Given the description of an element on the screen output the (x, y) to click on. 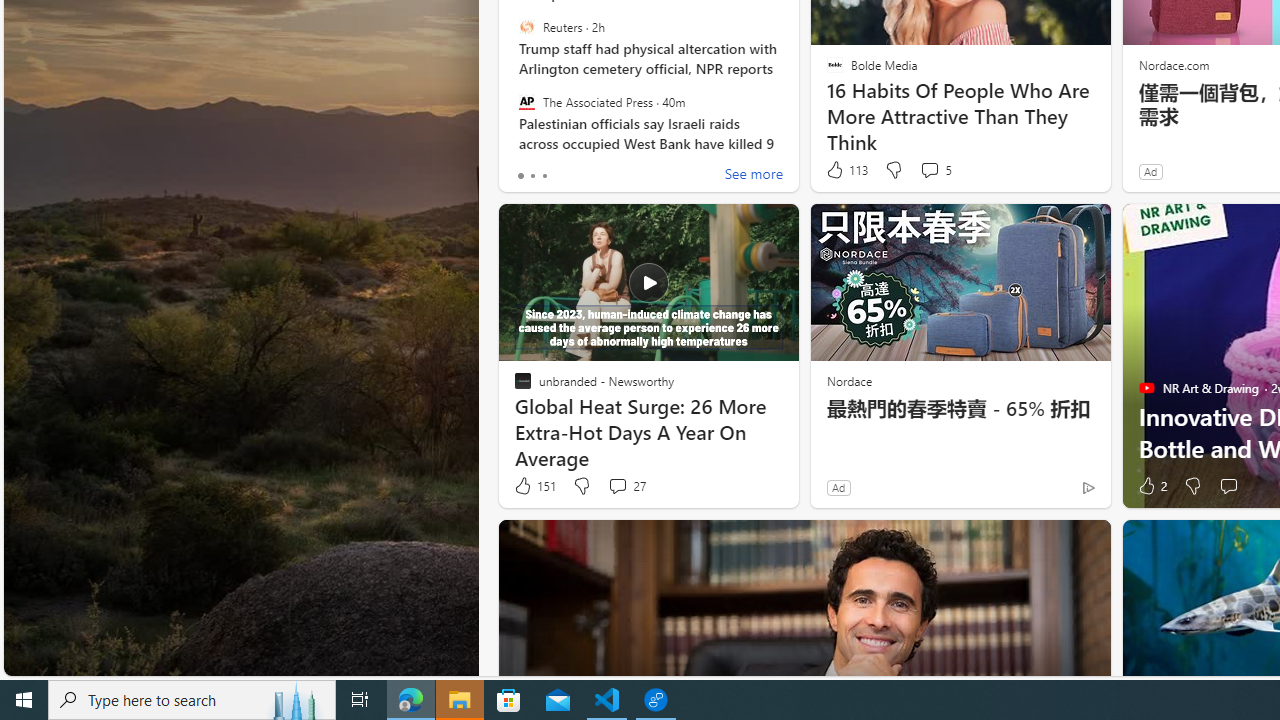
Start the conversation (1228, 485)
View comments 5 Comment (935, 170)
Ad Choice (1087, 487)
tab-2 (543, 175)
View comments 27 Comment (626, 485)
Ad (838, 487)
Dislike (1191, 485)
113 Like (845, 170)
151 Like (534, 485)
